Given the description of an element on the screen output the (x, y) to click on. 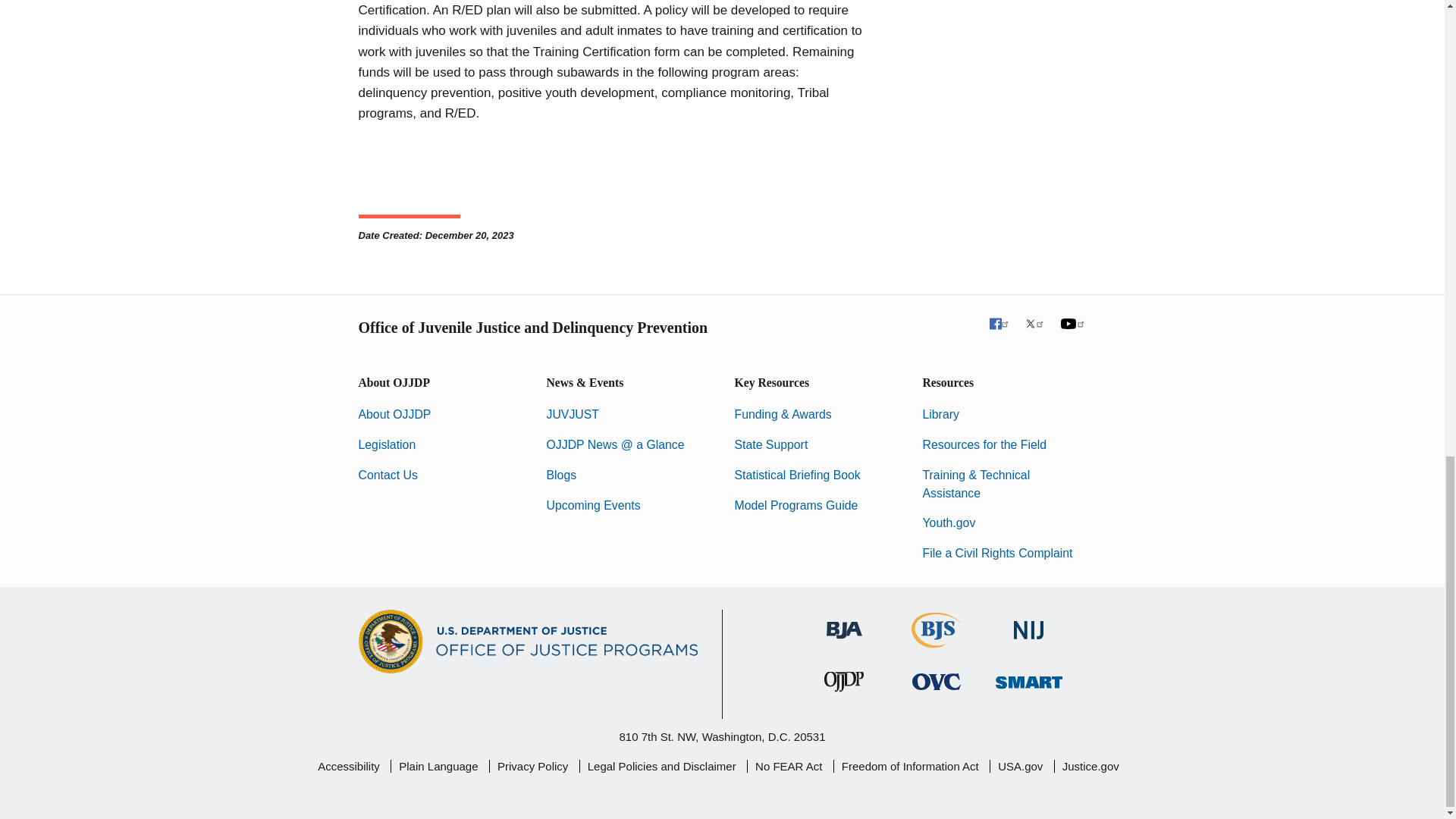
Contact Us (387, 474)
About OJJDP (394, 413)
Legislation (386, 444)
